Given the description of an element on the screen output the (x, y) to click on. 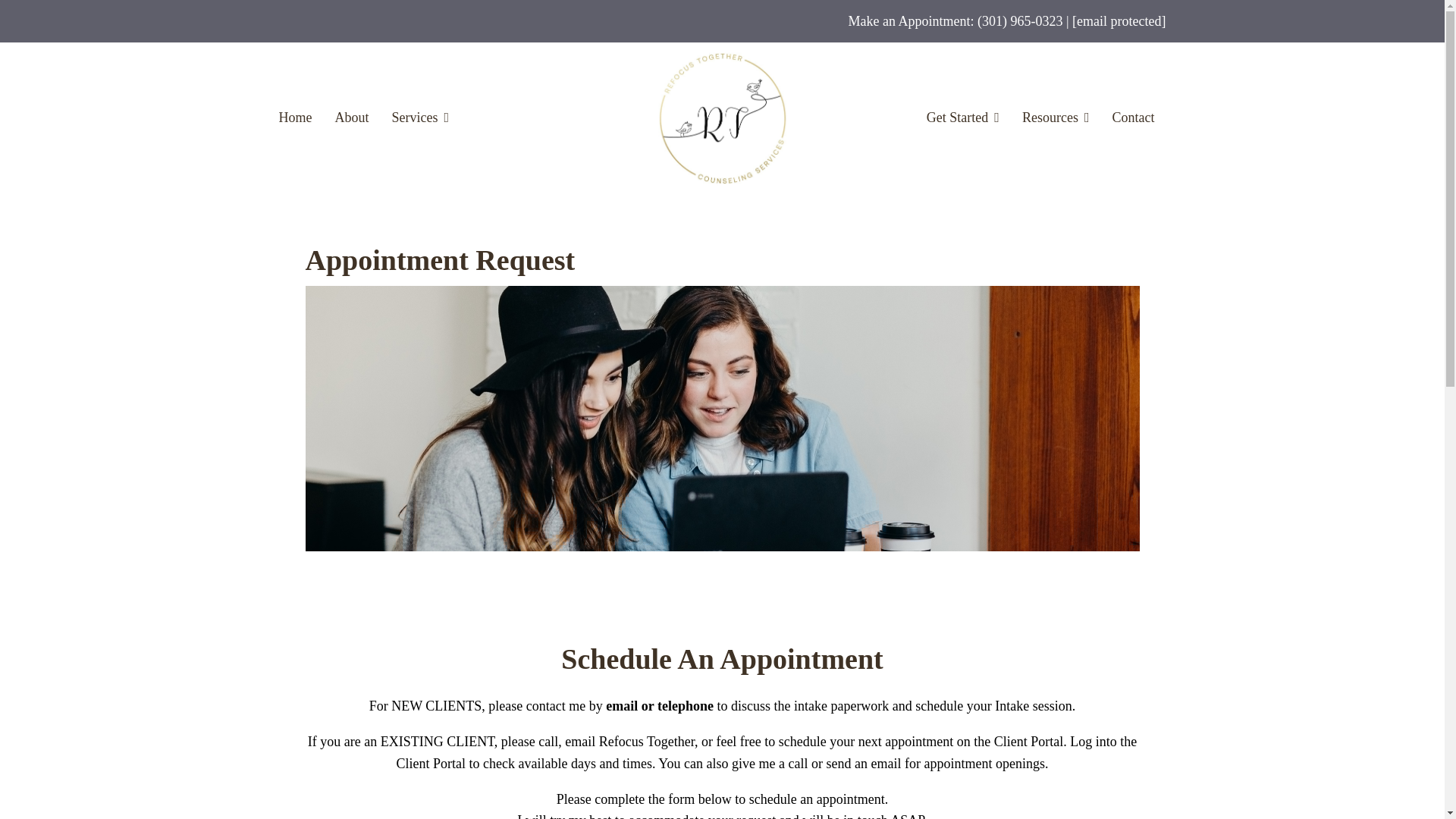
Get Started (962, 117)
Home (296, 117)
Resources (1055, 117)
Contact (1133, 117)
Services (419, 117)
About (351, 117)
